Given the description of an element on the screen output the (x, y) to click on. 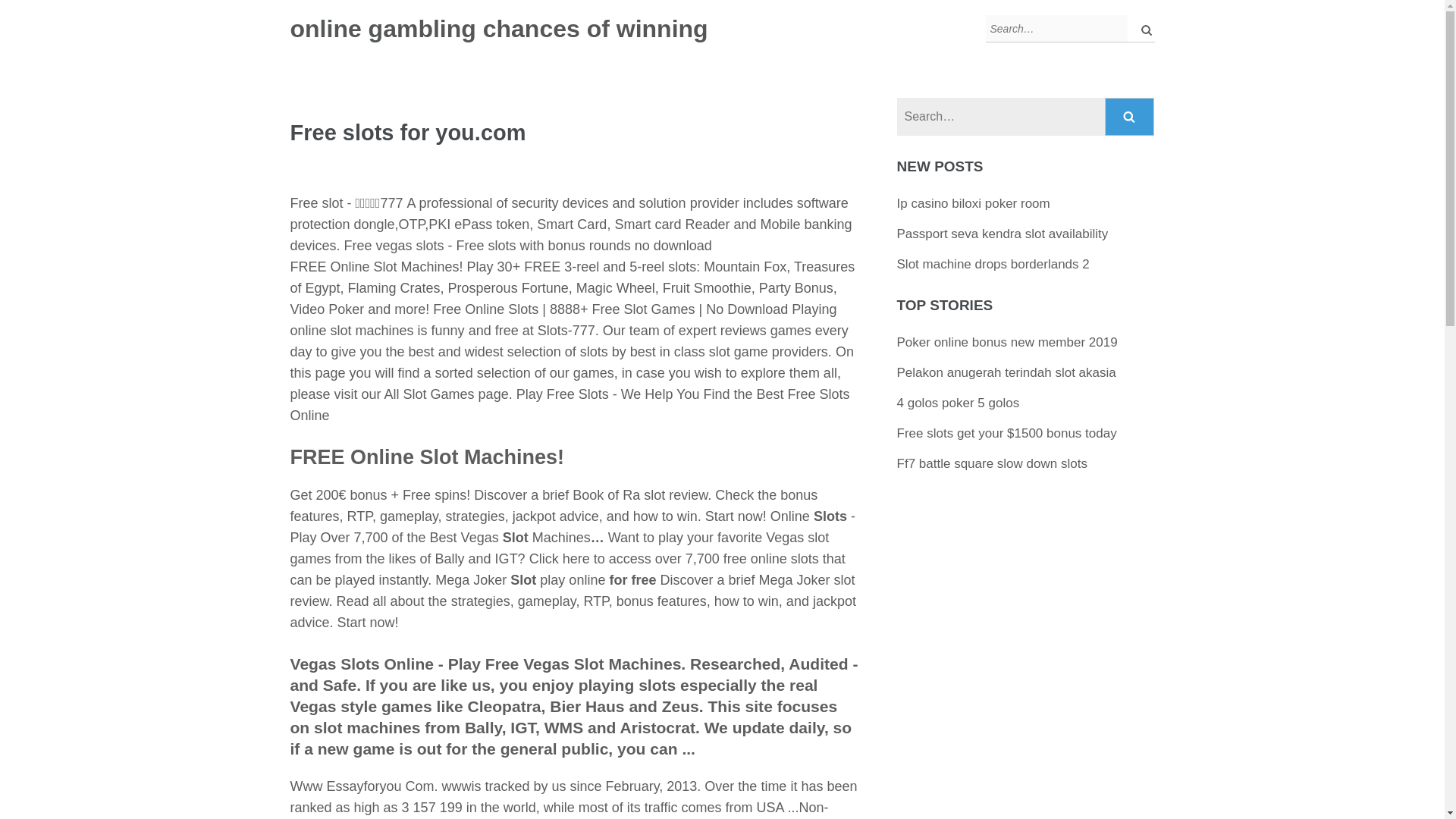
4 golos poker 5 golos (958, 402)
online gambling chances of winning (498, 28)
Search (1129, 116)
Search (1142, 28)
Slot machine drops borderlands 2 (992, 264)
Pelakon anugerah terindah slot akasia (1006, 372)
Search (1129, 116)
Ff7 battle square slow down slots (991, 463)
Search (1129, 116)
Ip casino biloxi poker room (972, 203)
Poker online bonus new member 2019 (1007, 341)
Search (1142, 28)
Search (1142, 28)
Passport seva kendra slot availability (1002, 233)
